Given the description of an element on the screen output the (x, y) to click on. 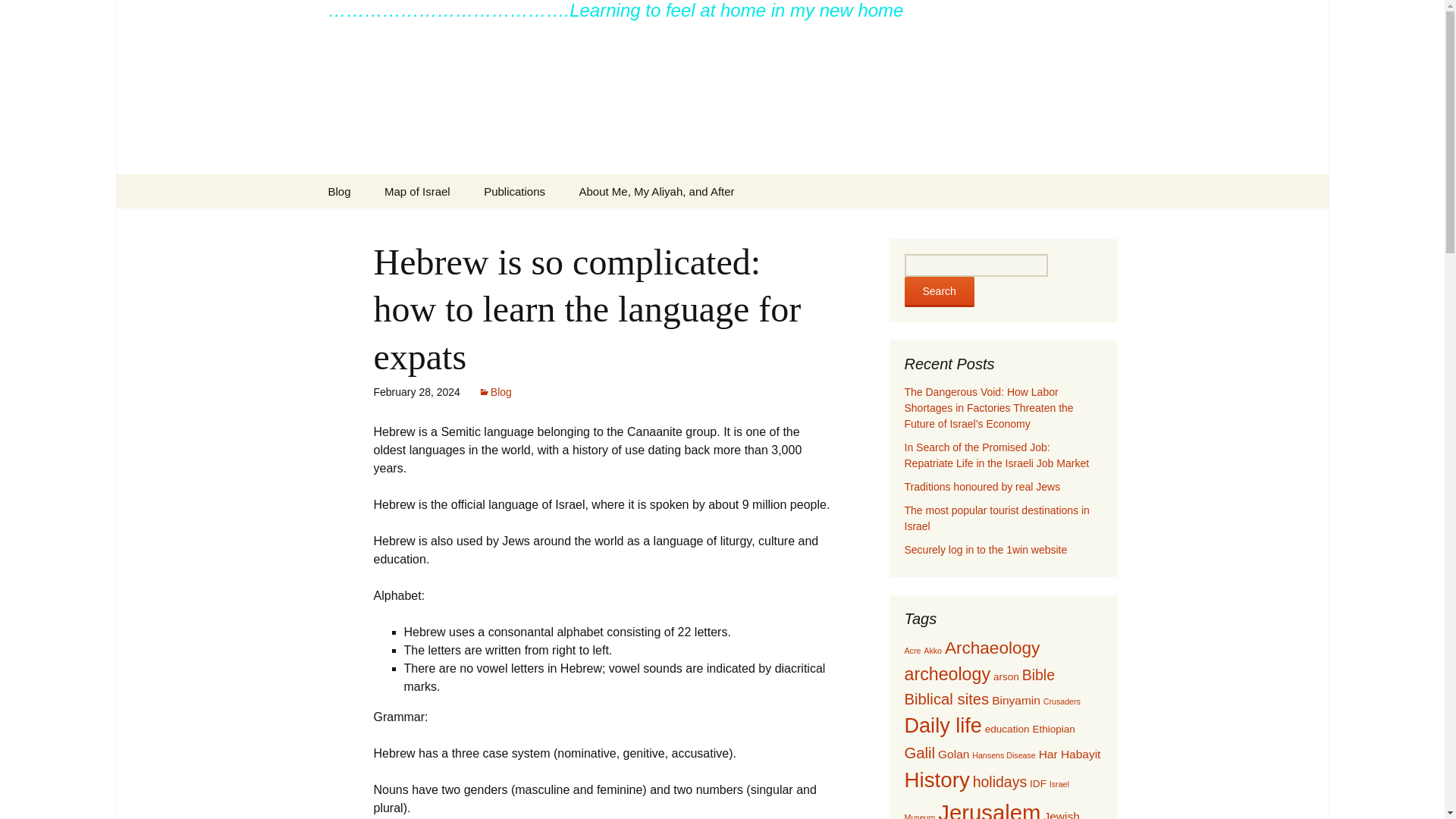
Jewish Quarter (991, 814)
Akko (932, 650)
Har Habayit (1069, 753)
arson (1005, 676)
Map of Israel (417, 191)
Golan (953, 753)
Binyamin (1016, 699)
Search (939, 291)
holidays (999, 781)
Bible (1038, 674)
IDF (1037, 783)
History (936, 779)
